Given the description of an element on the screen output the (x, y) to click on. 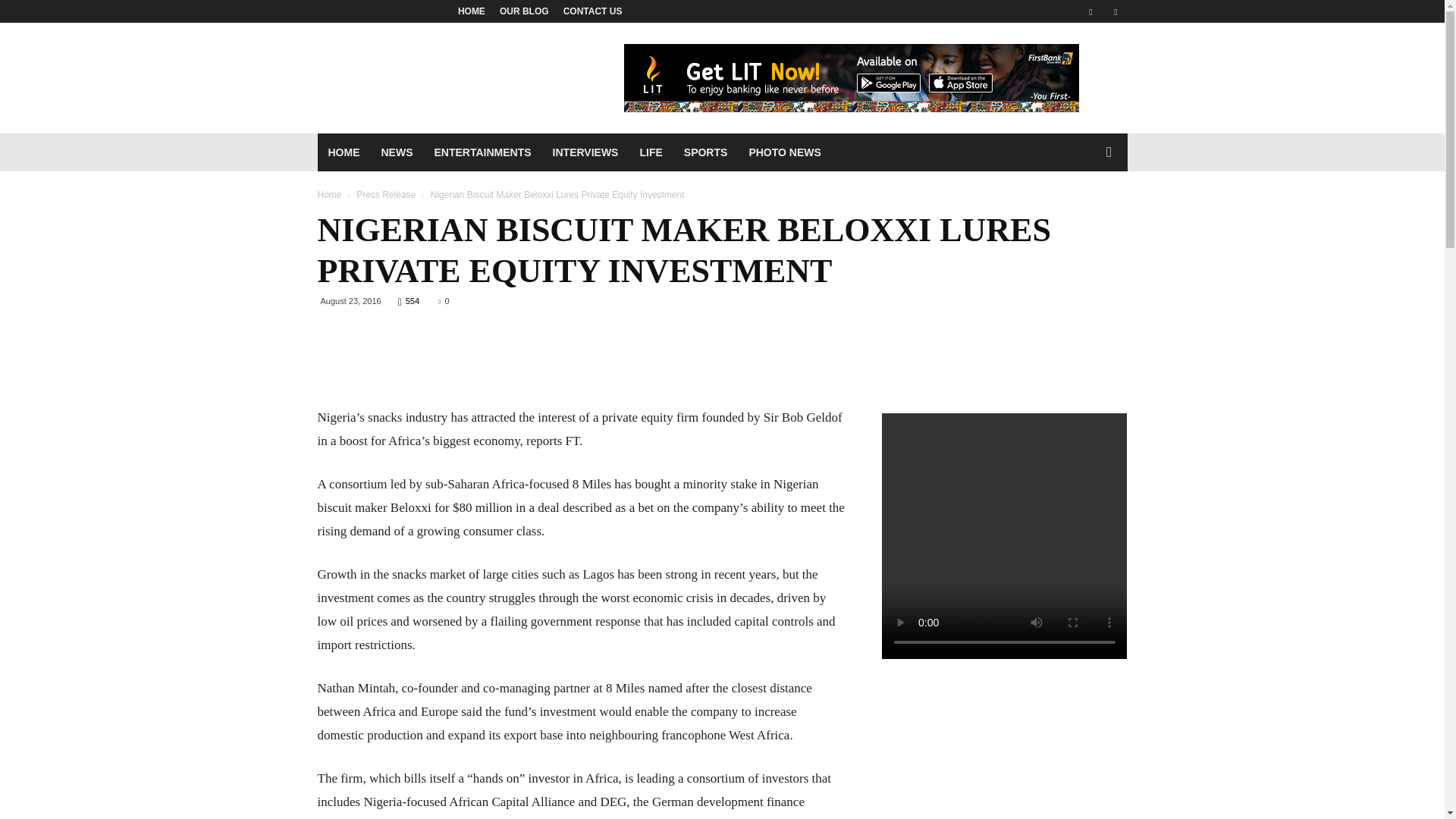
Home (328, 194)
OUR BLOG (523, 10)
NEWS (396, 152)
0 (443, 300)
LIFE (650, 152)
HOME (343, 152)
HOME (471, 10)
SPORTS (705, 152)
Twitter (1114, 11)
View all posts in Press Release (385, 194)
INTERVIEWS (584, 152)
ENTERTAINMENTS (482, 152)
Search (1080, 213)
CONTACT US (593, 10)
Press Release (385, 194)
